Given the description of an element on the screen output the (x, y) to click on. 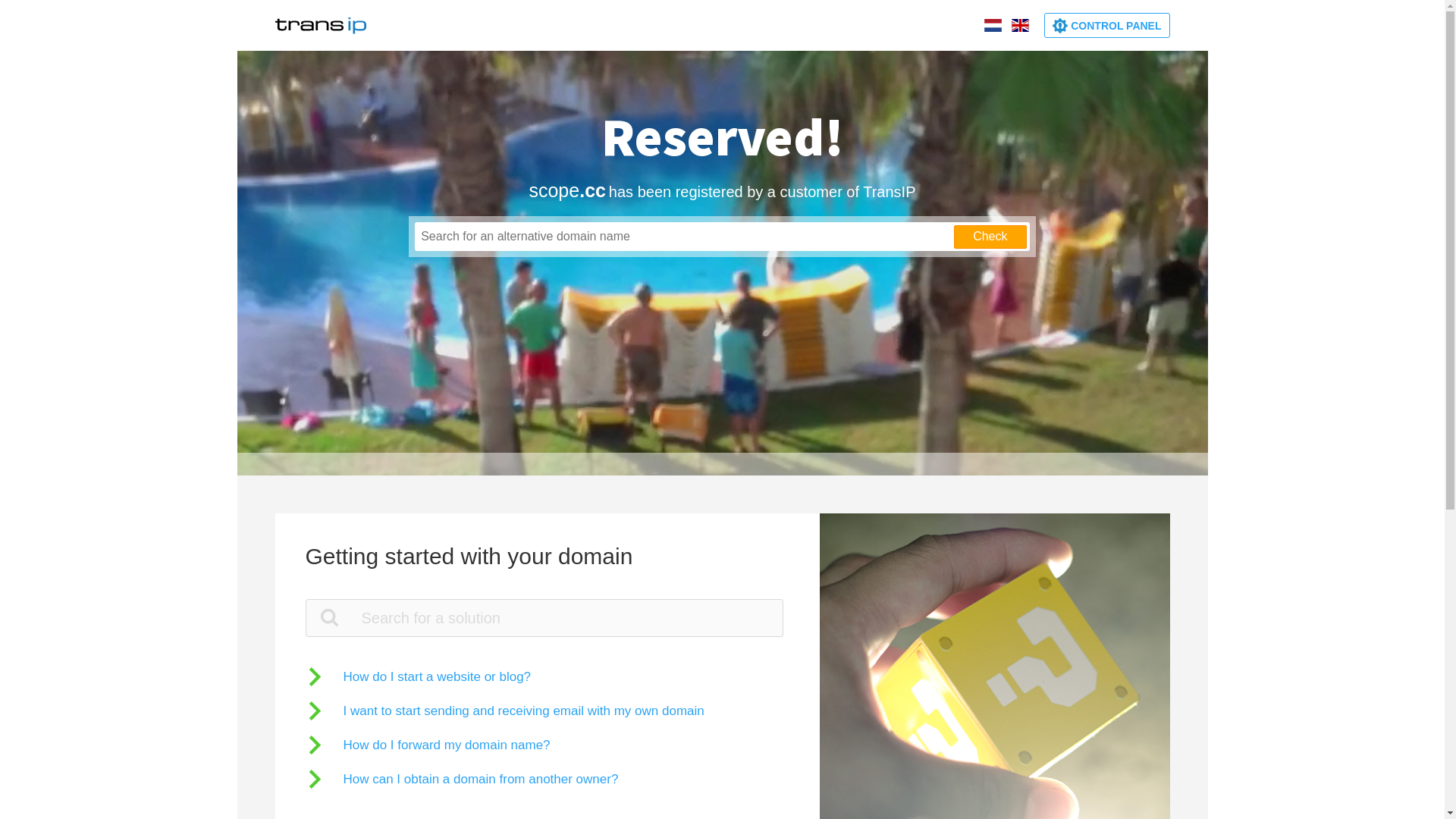
CONTROL PANEL Element type: text (1106, 24)
How can I obtain a domain from another owner? Element type: text (461, 777)
How do I forward my domain name? Element type: text (426, 743)
Check Element type: text (989, 236)
How do I start a website or blog? Element type: text (417, 675)
